Given the description of an element on the screen output the (x, y) to click on. 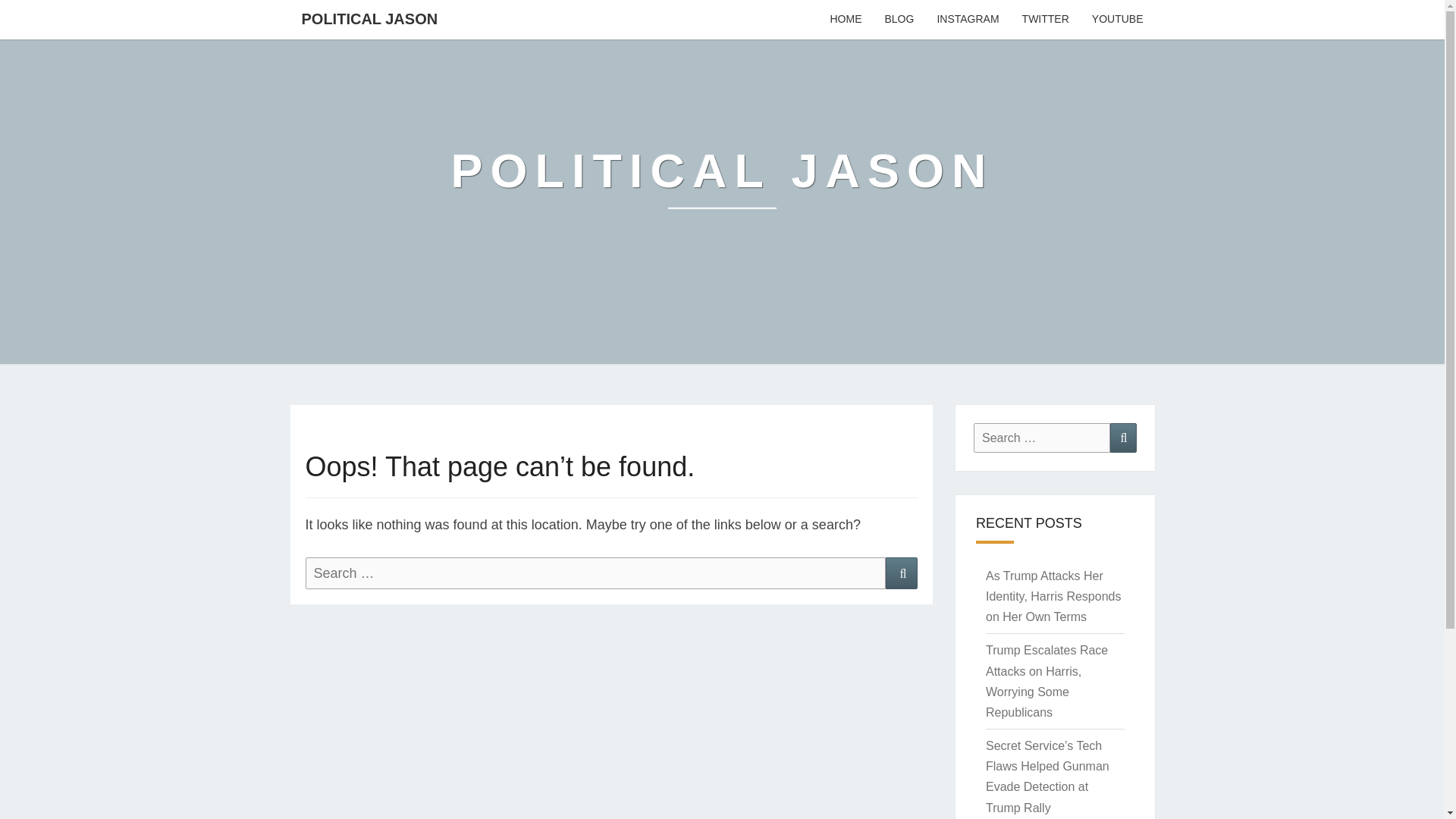
Political Jason (722, 181)
POLITICAL JASON (368, 18)
Search (901, 573)
BLOG (898, 19)
POLITICAL JASON (722, 181)
Search (1123, 437)
INSTAGRAM (967, 19)
YOUTUBE (1117, 19)
HOME (845, 19)
TWITTER (1045, 19)
Search for: (594, 573)
Search for: (1041, 437)
